Given the description of an element on the screen output the (x, y) to click on. 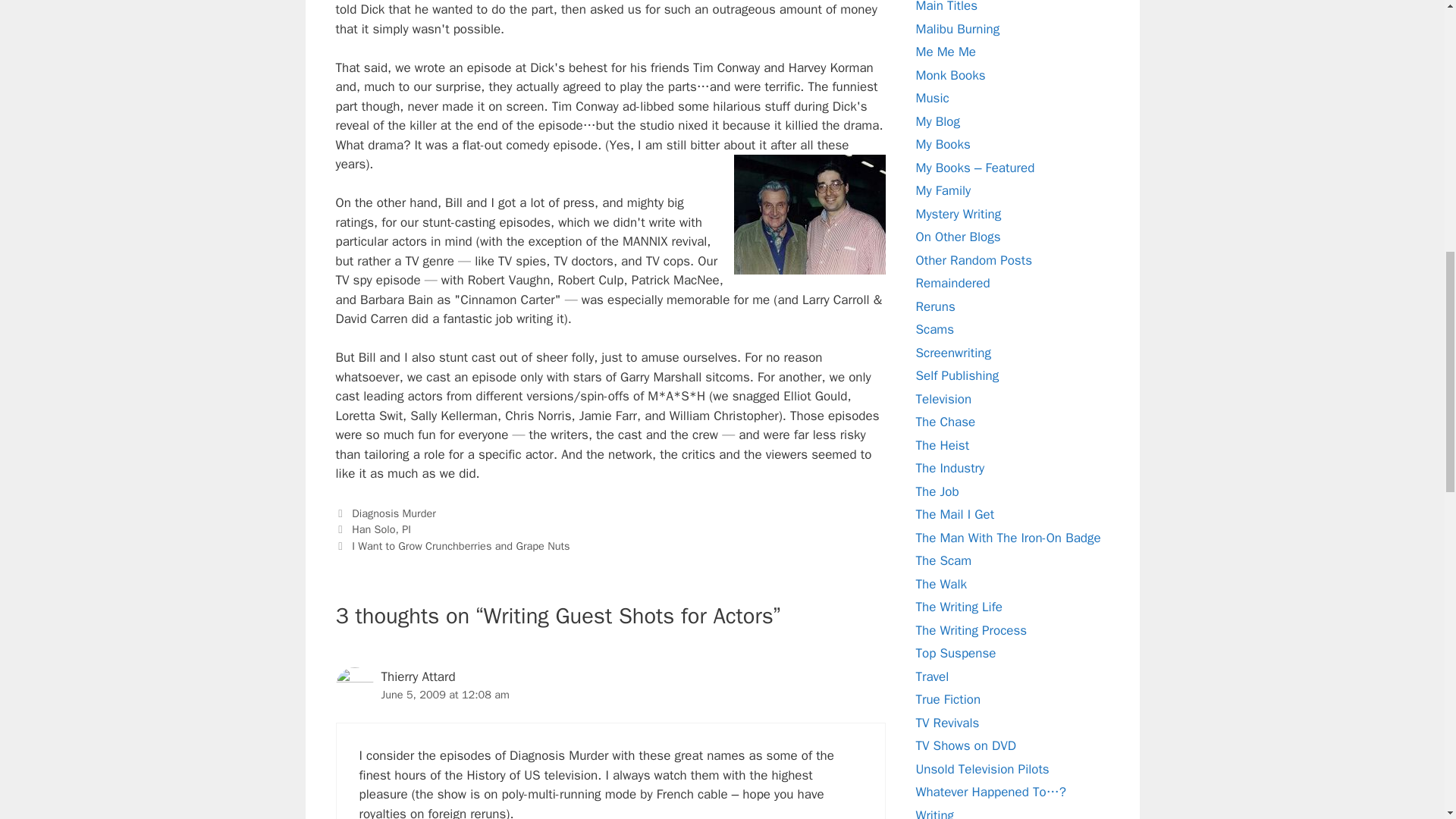
Diagnosis Murder (393, 513)
